Given the description of an element on the screen output the (x, y) to click on. 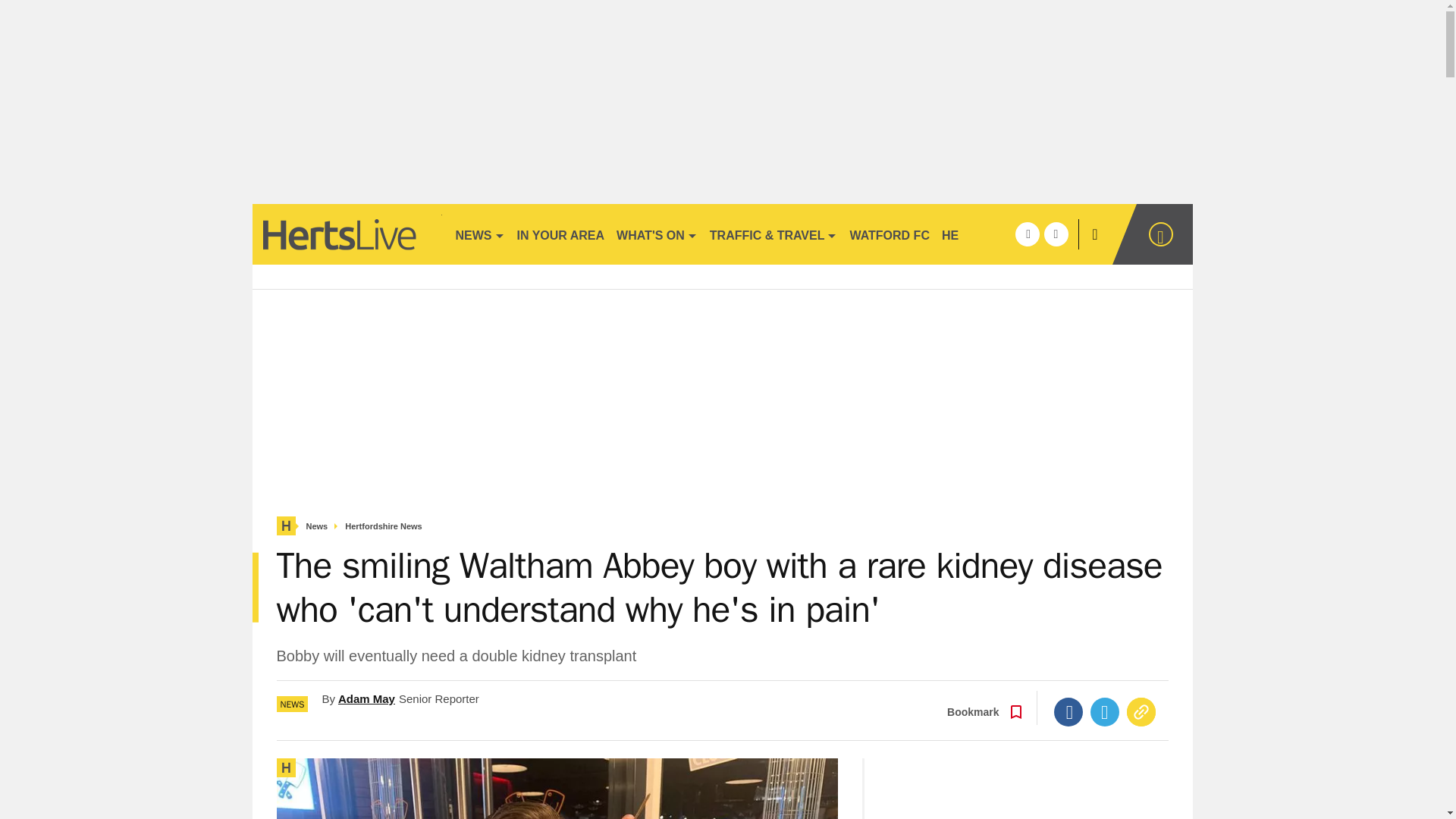
HEMEL HEMPSTEAD (1003, 233)
facebook (1026, 233)
WHAT'S ON (656, 233)
twitter (1055, 233)
IN YOUR AREA (561, 233)
Facebook (1068, 711)
NEWS (479, 233)
Twitter (1104, 711)
WATFORD FC (888, 233)
hertfordshiremercury (346, 233)
